Given the description of an element on the screen output the (x, y) to click on. 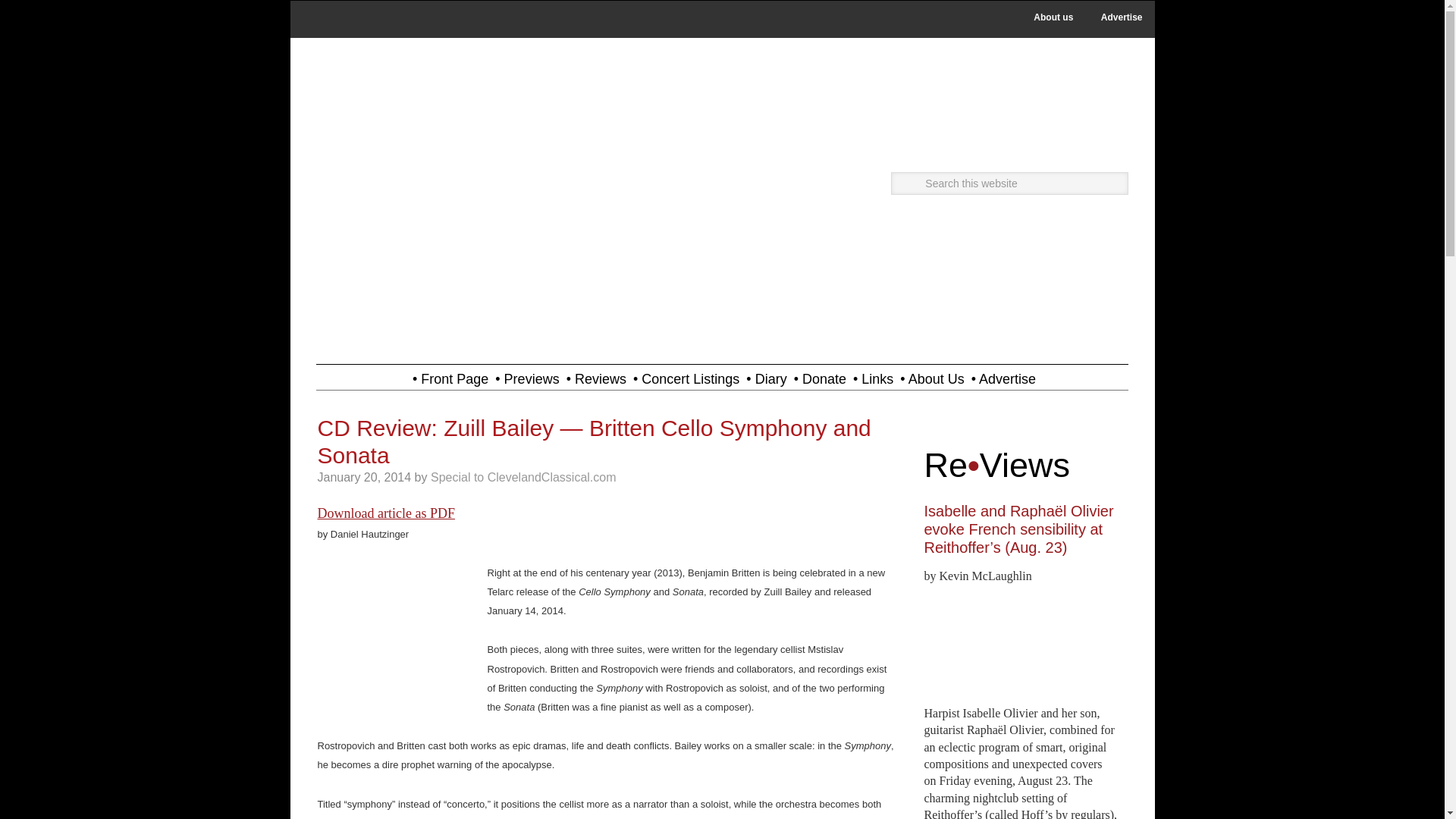
Download article as PDF (385, 513)
About us (1053, 17)
Special to ClevelandClassical.com (522, 477)
Advertise (1121, 17)
